Given the description of an element on the screen output the (x, y) to click on. 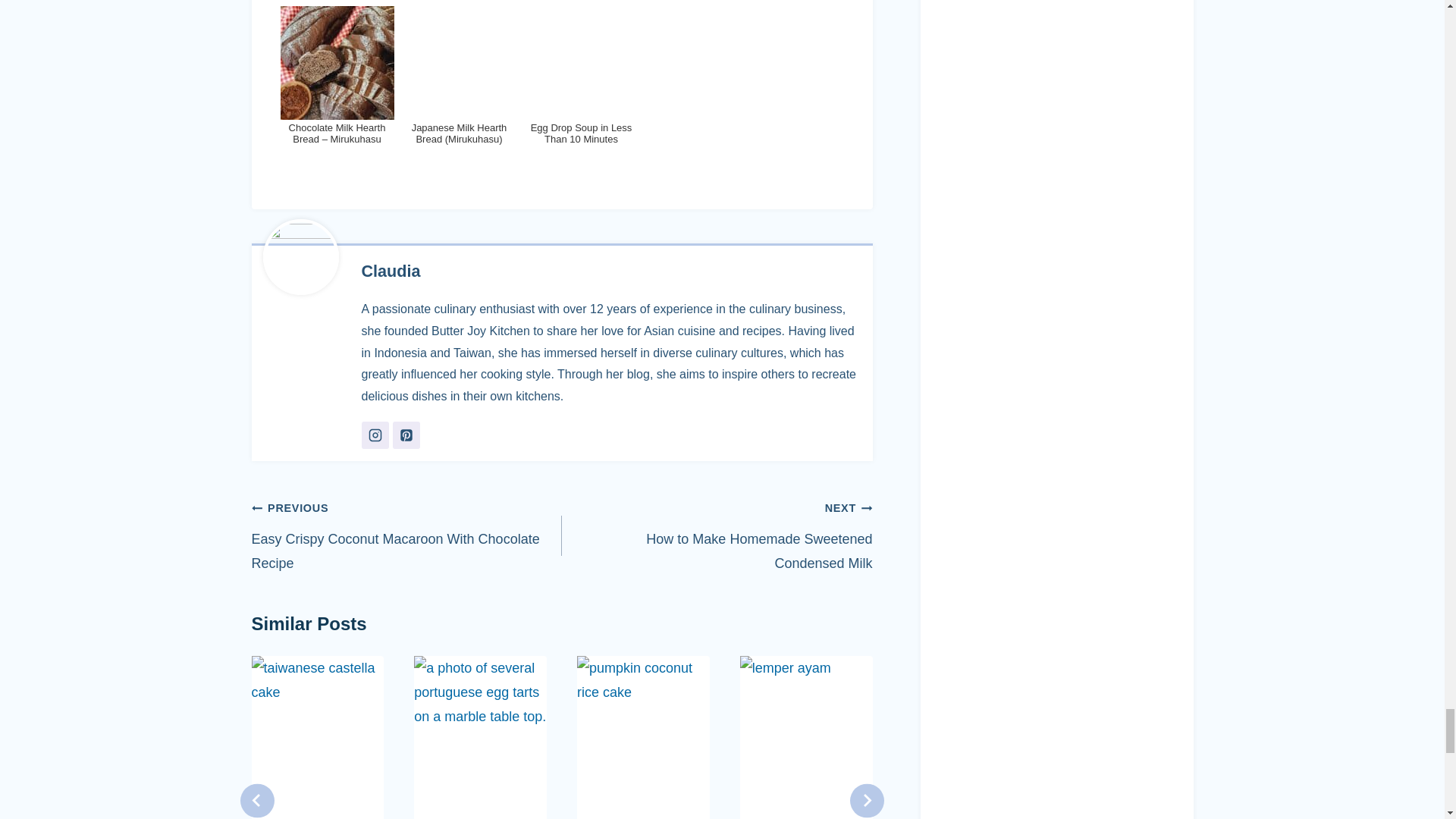
Follow Claudia on Pinterest (406, 434)
Posts by Claudia (390, 270)
Follow Claudia on Instagram (374, 434)
